Given the description of an element on the screen output the (x, y) to click on. 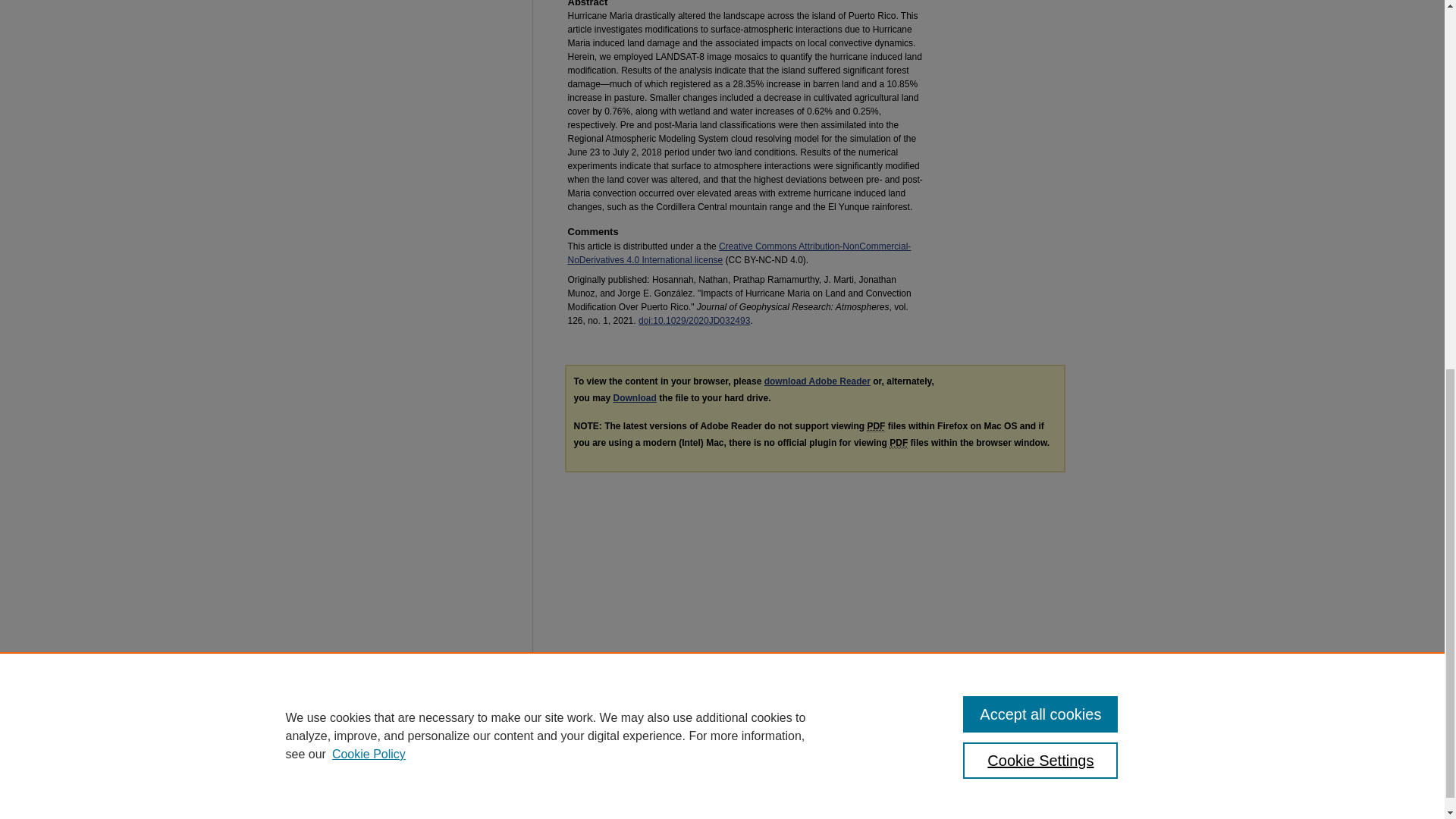
Portable Document Format (875, 426)
Download (634, 398)
download Adobe Reader (817, 380)
Adobe - Adobe Reader download (817, 380)
